Given the description of an element on the screen output the (x, y) to click on. 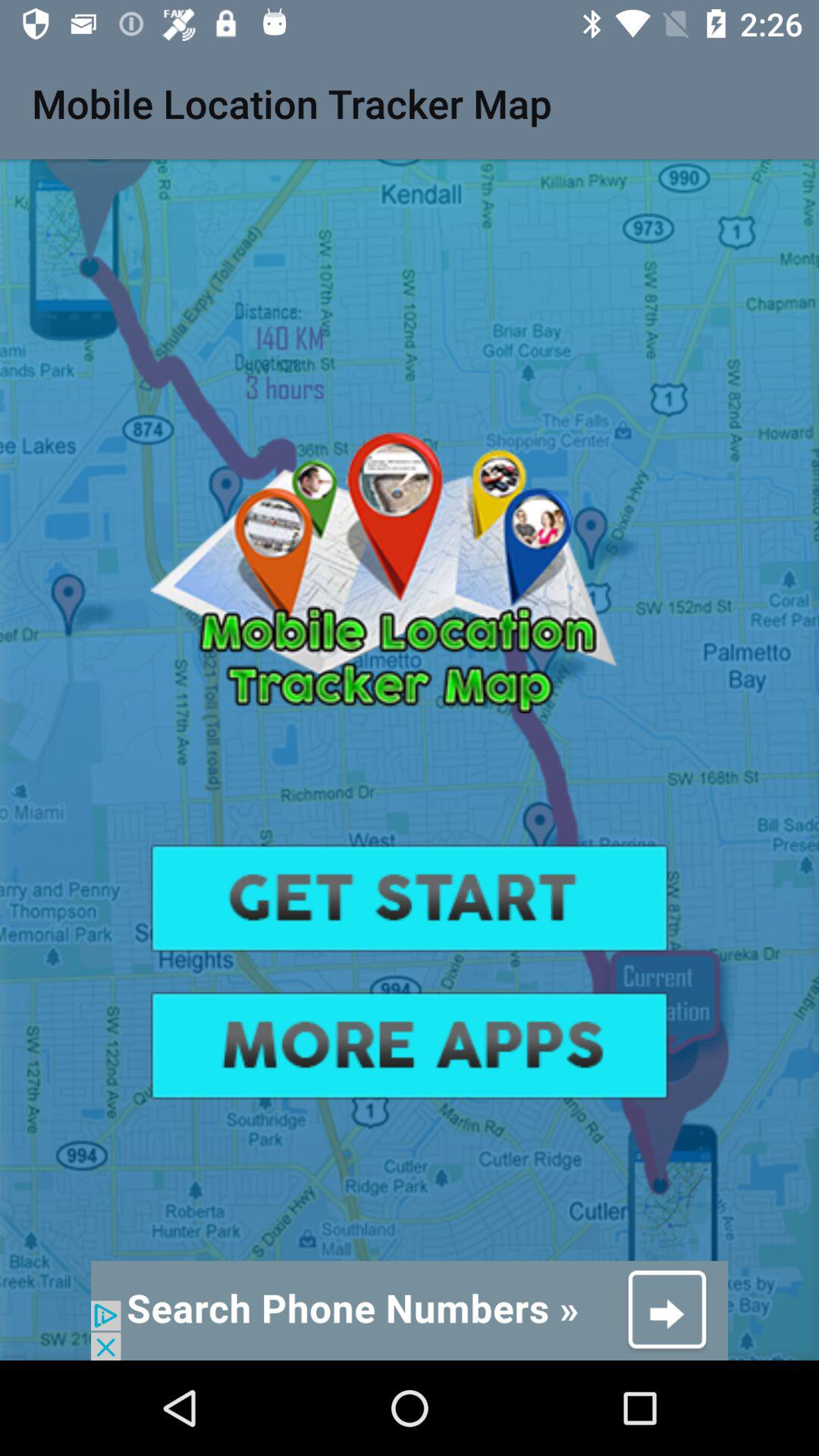
searcing next option (409, 1310)
